Given the description of an element on the screen output the (x, y) to click on. 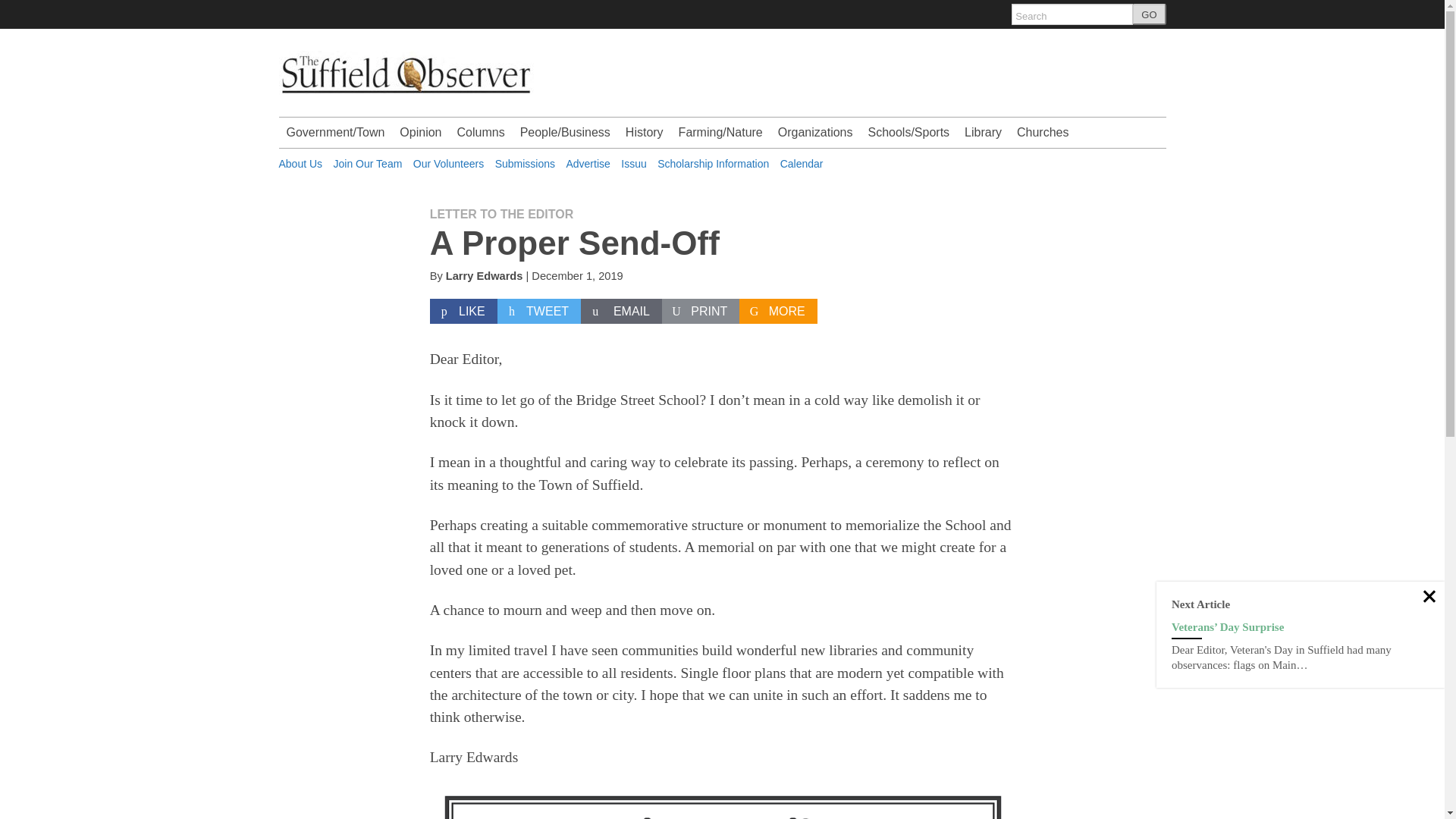
Opinion (419, 132)
Advertise (588, 163)
Join Our Team (368, 163)
Calendar (802, 163)
Organizations (815, 132)
Read Articles in the Letter to the Editor category (501, 214)
Issuu (633, 163)
About Us (301, 163)
Our Volunteers (448, 163)
Submissions (524, 163)
History (644, 132)
Library (982, 132)
Columns (480, 132)
LETTER TO THE EDITOR (501, 214)
Scholarship Information (713, 163)
